Given the description of an element on the screen output the (x, y) to click on. 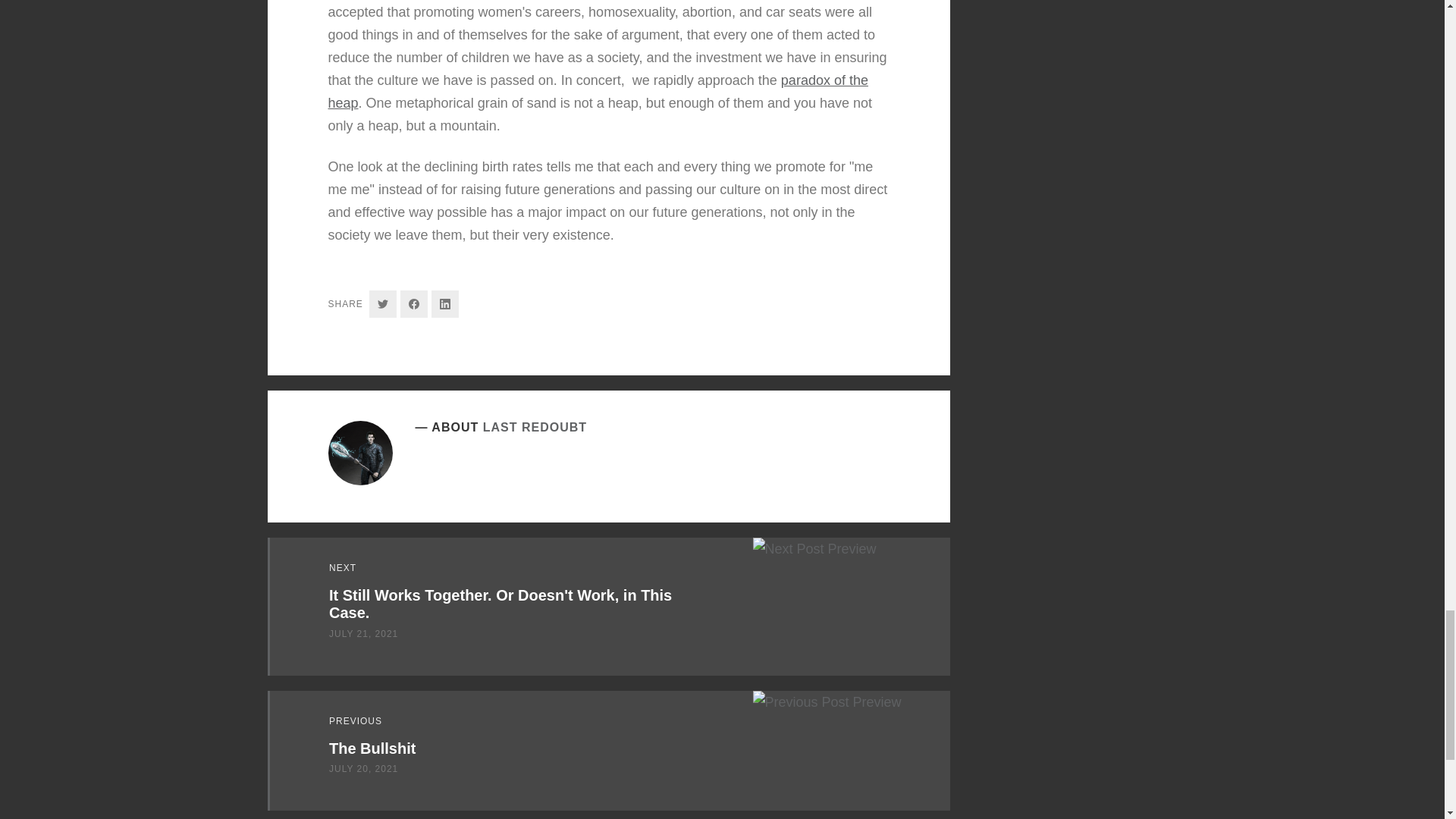
SHARE ON LINKEDIN (444, 299)
paradox of the heap (597, 84)
SHARE ON TWITTER (382, 297)
LAST REDOUBT (534, 424)
SHARE ON FACEBOOK (414, 298)
The Bullshit (371, 747)
It Still Works Together. Or Doesn't Work, in This Case. (500, 602)
